Given the description of an element on the screen output the (x, y) to click on. 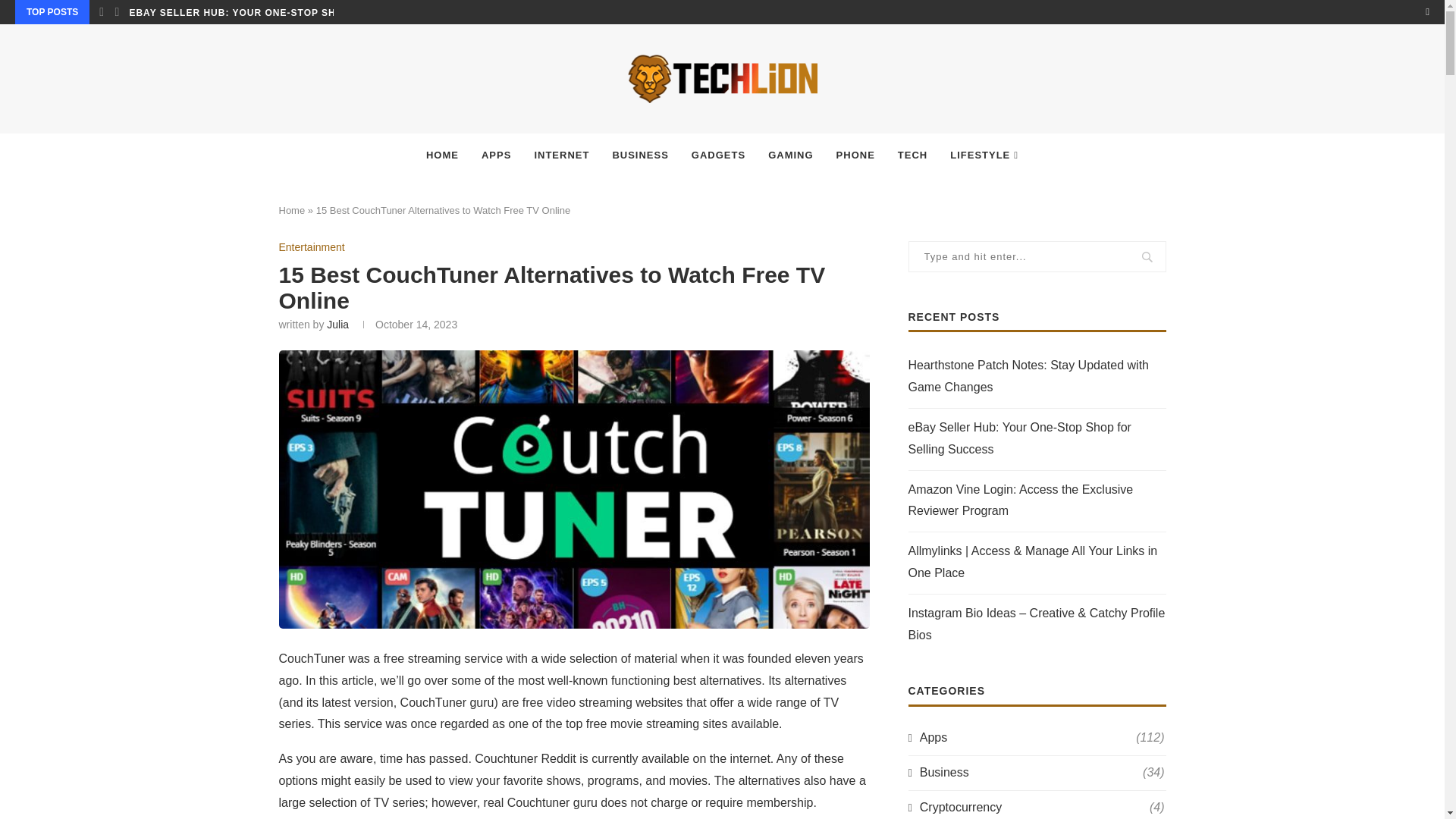
BUSINESS (639, 156)
APPS (496, 156)
HEARTHSTONE PATCH NOTES: STAY UPDATED WITH GAME CHANGES (82, 12)
LIFESTYLE (984, 156)
TECH (912, 156)
Entertainment (312, 246)
INTERNET (560, 156)
GADGETS (718, 156)
Home (292, 210)
PHONE (855, 156)
GAMING (790, 156)
Julia (337, 324)
HOME (442, 156)
EBAY SELLER HUB: YOUR ONE-STOP SHOP FOR SELLING... (280, 12)
